Given the description of an element on the screen output the (x, y) to click on. 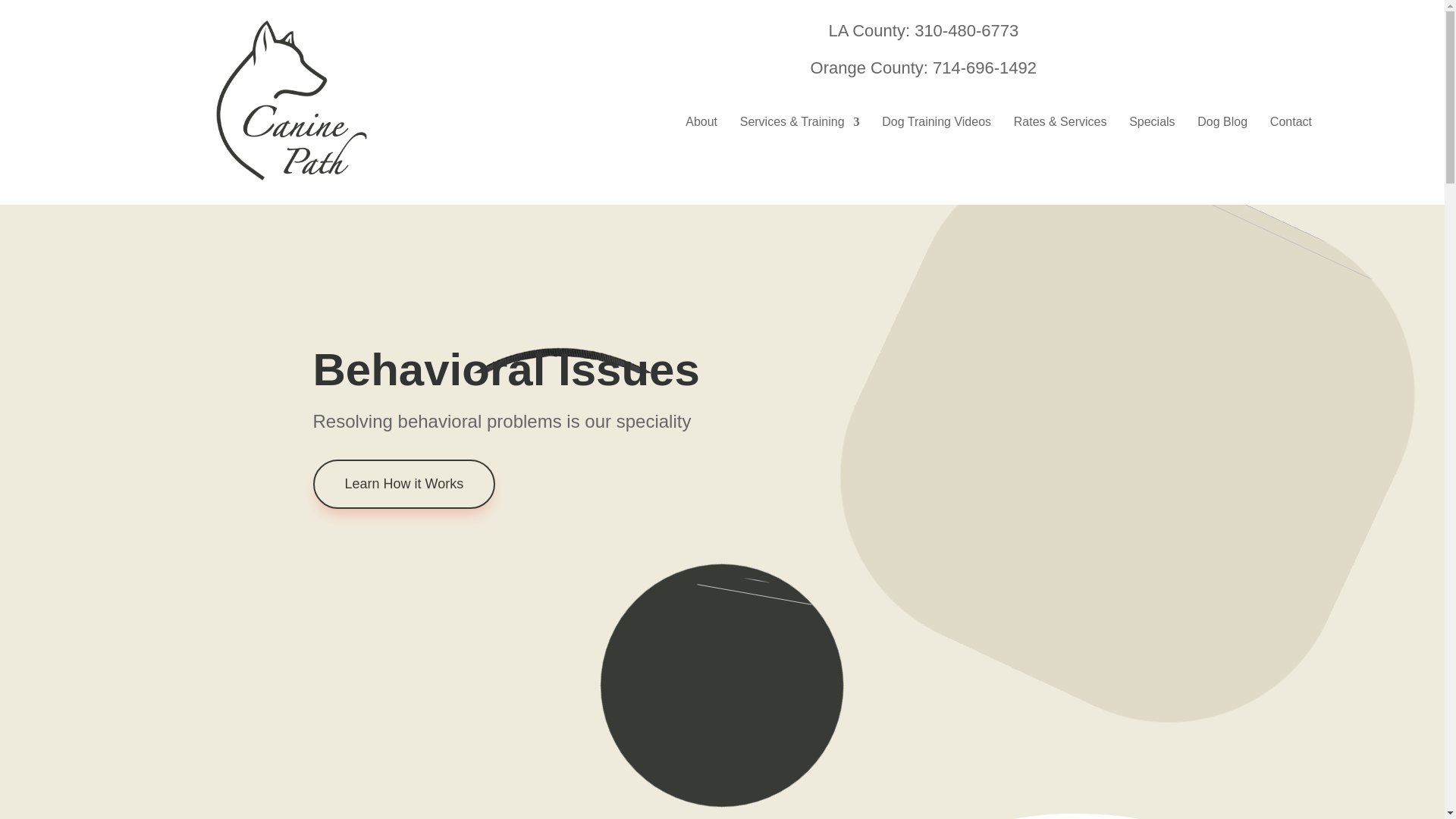
Dog Blog (1221, 125)
Specials (1151, 125)
About (701, 125)
Learn How it Works (404, 483)
Contact (1290, 125)
Dog Training Videos (936, 125)
